Given the description of an element on the screen output the (x, y) to click on. 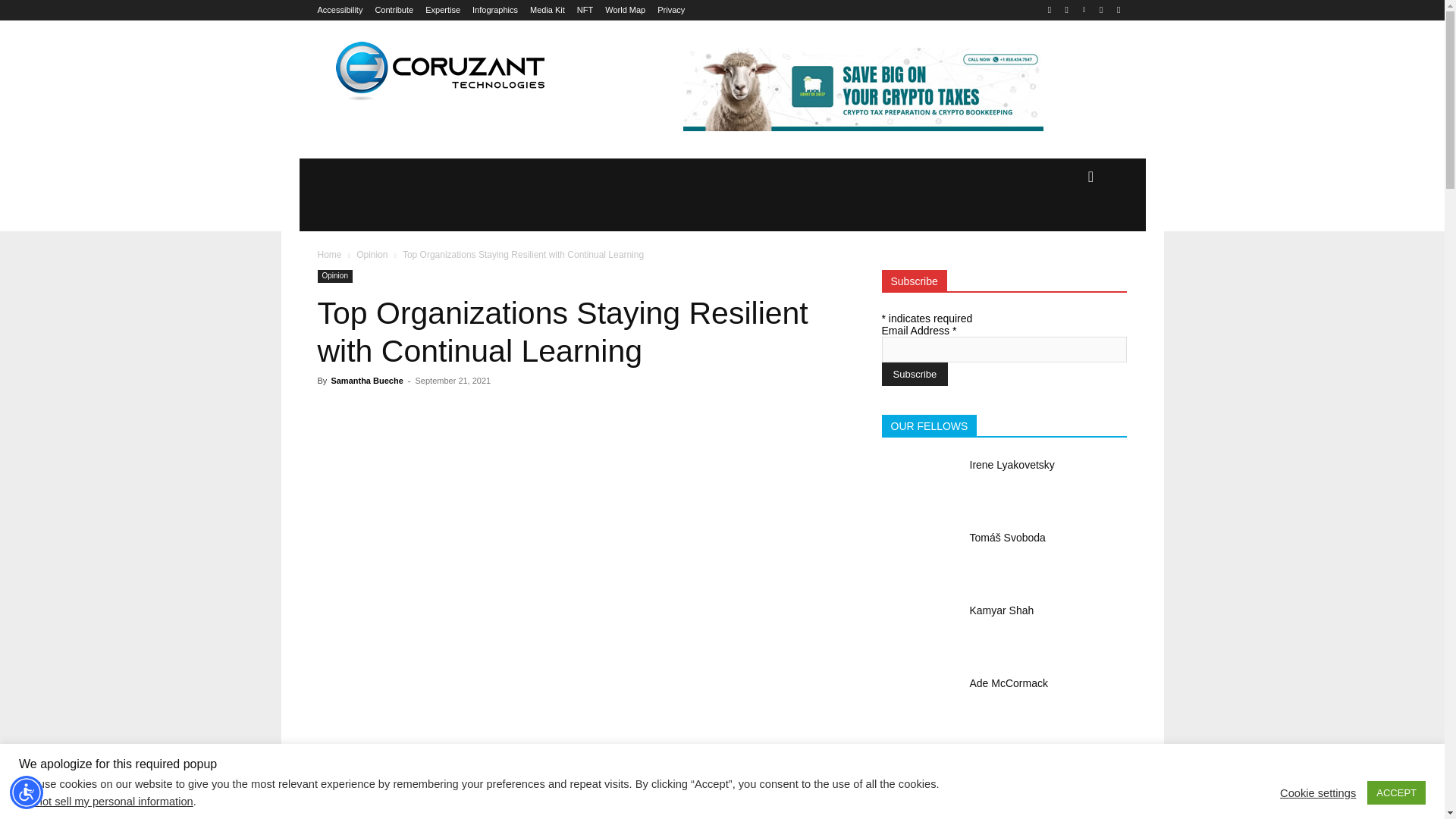
Instagram (1066, 9)
Home (328, 254)
Twitter (1101, 9)
Linkedin (1084, 9)
Subscribe (913, 373)
Facebook (1049, 9)
NFT (584, 9)
World Map (625, 9)
Media Kit (546, 9)
Accessibility Menu (26, 792)
Opinion (371, 254)
Contribute (393, 9)
Expertise (442, 9)
Infographics (494, 9)
Privacy (671, 9)
